Given the description of an element on the screen output the (x, y) to click on. 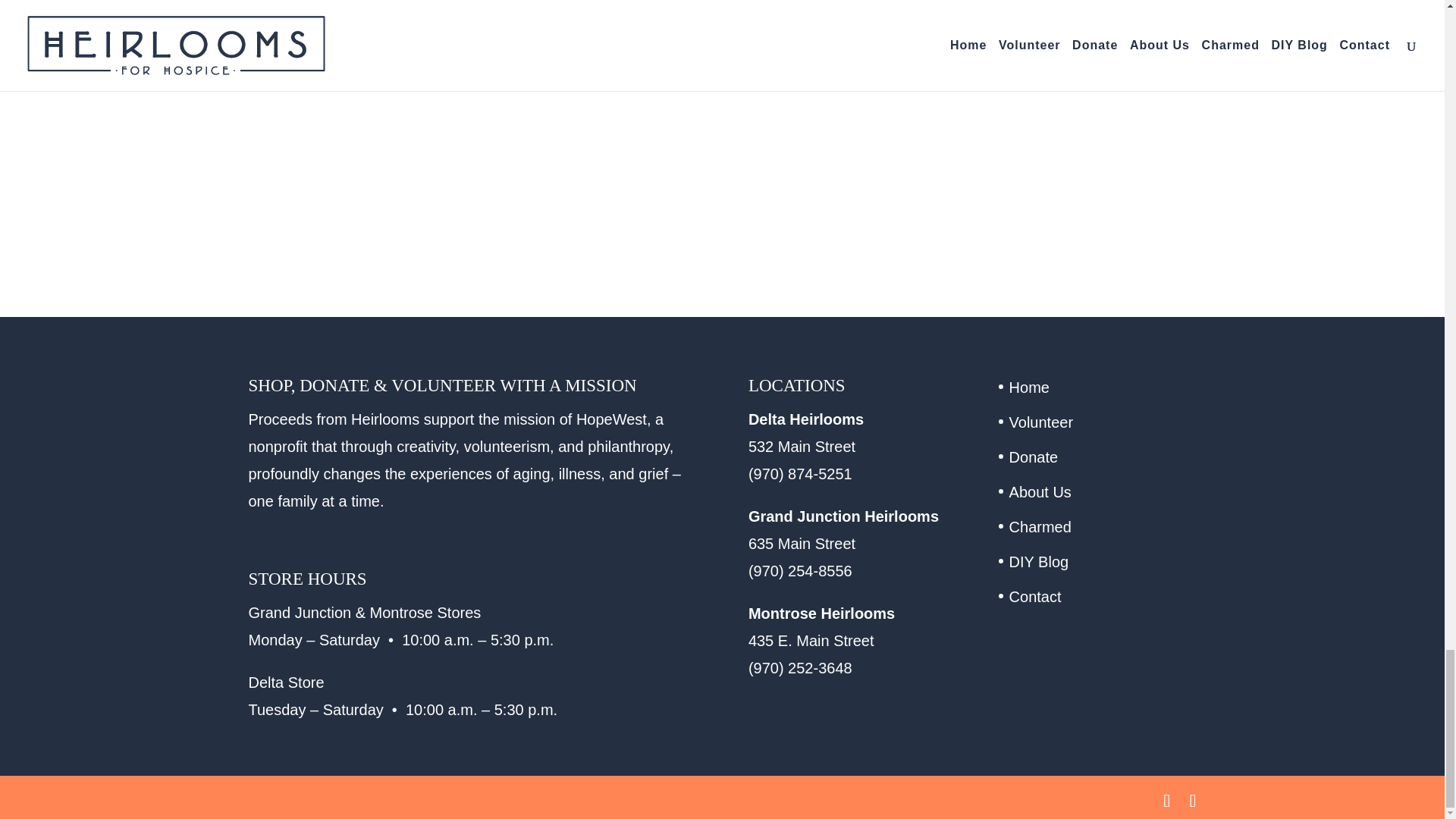
Home (1029, 387)
HopeWest (611, 419)
About Us (1040, 492)
Contact (1035, 596)
DIY Blog (1038, 561)
Charmed (1040, 526)
Volunteer (1041, 422)
Donate (1033, 457)
